Given the description of an element on the screen output the (x, y) to click on. 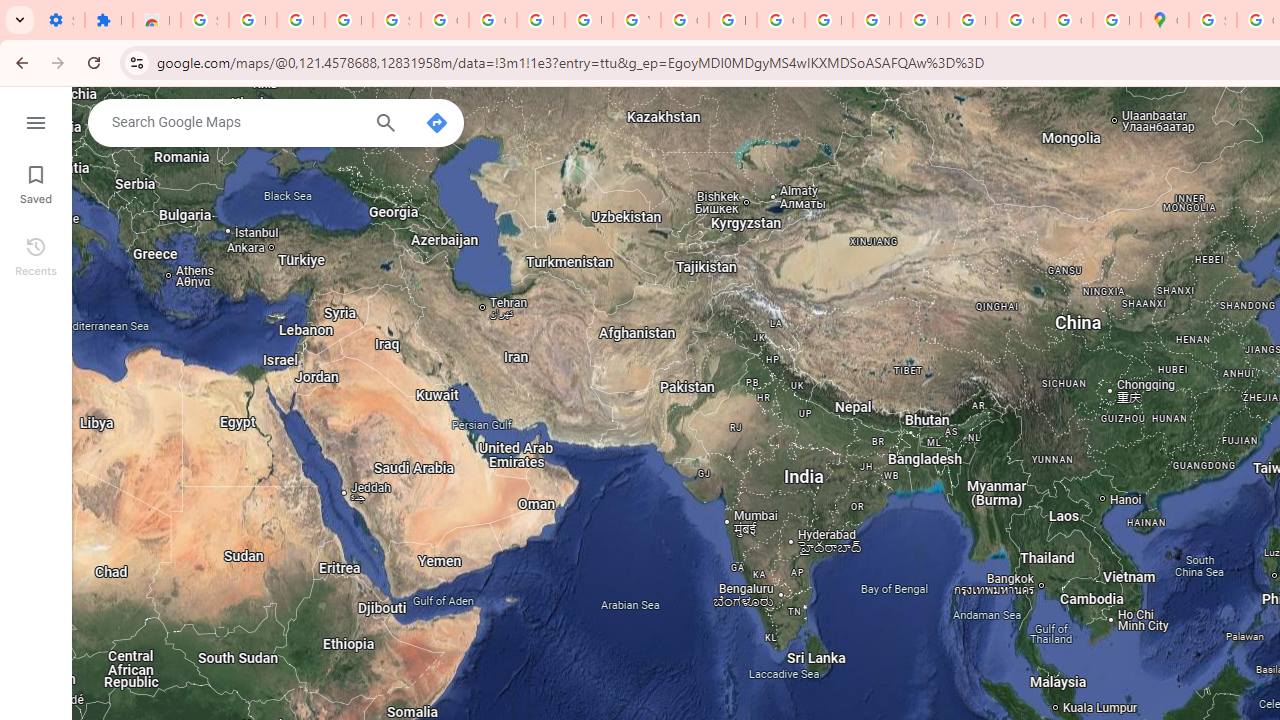
Directions (436, 122)
Learn how to find your photos - Google Photos Help (300, 20)
Sign in - Google Accounts (396, 20)
Privacy Help Center - Policies Help (828, 20)
Sign in - Google Accounts (204, 20)
Saved (35, 182)
